Given the description of an element on the screen output the (x, y) to click on. 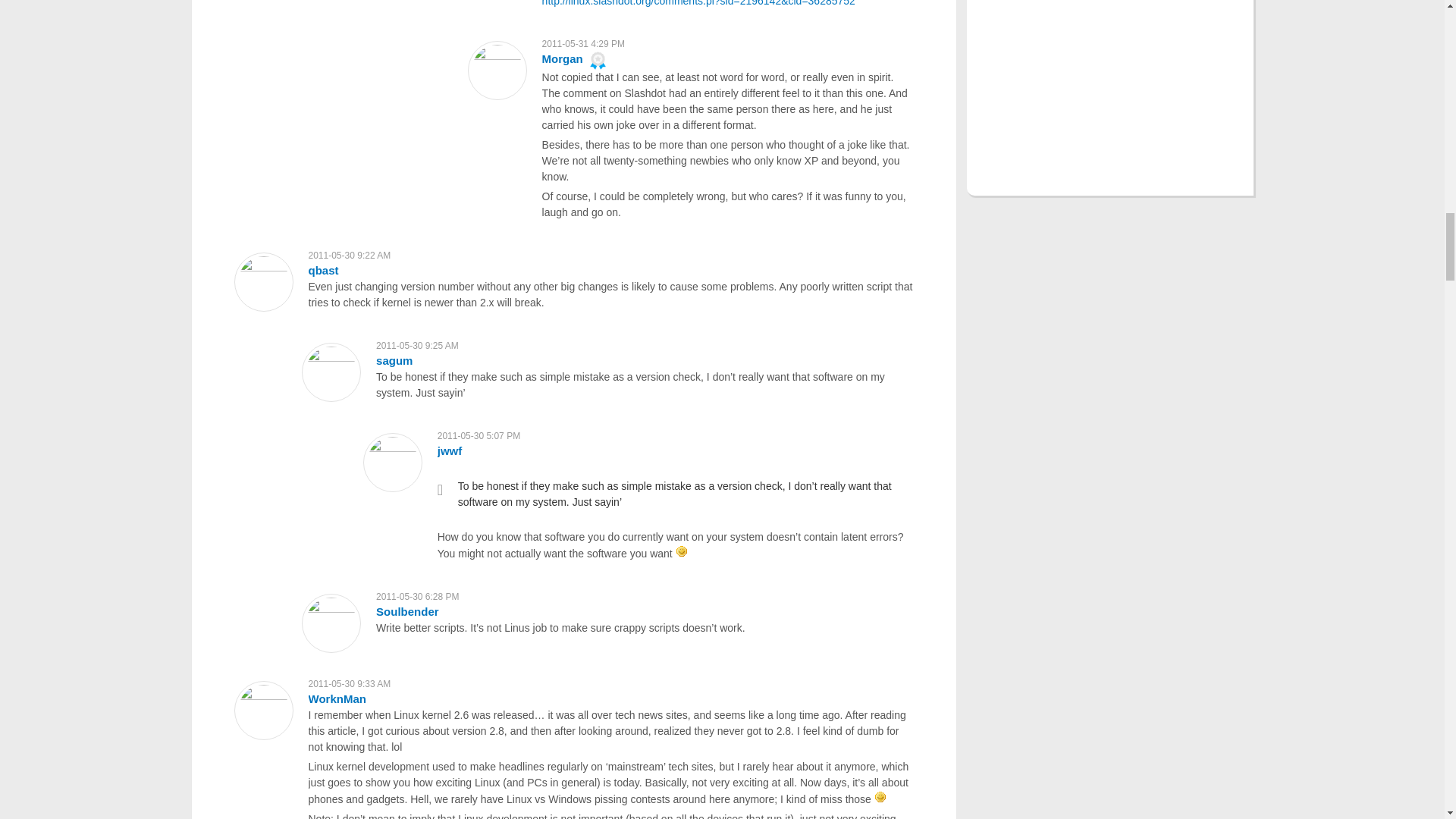
Morgan (562, 58)
sagum (393, 359)
jwwf (450, 450)
qbast (322, 269)
Soulbender (407, 611)
